Given the description of an element on the screen output the (x, y) to click on. 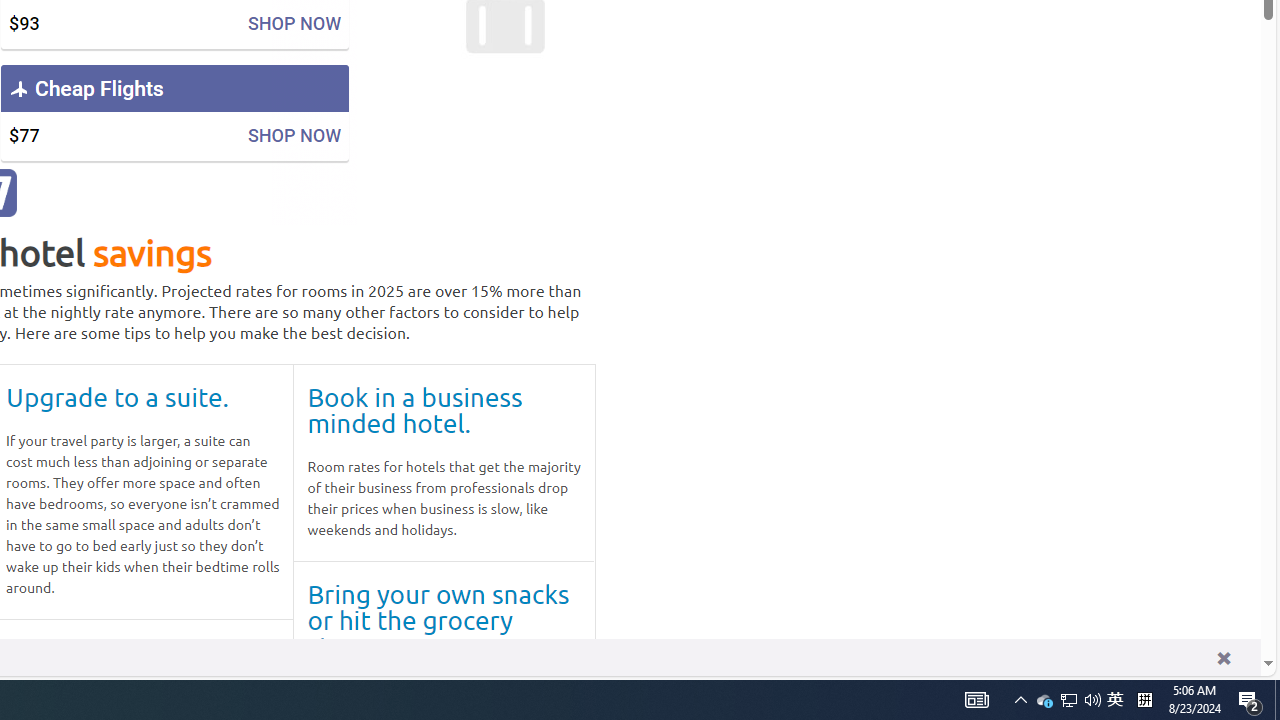
dismiss cookie message (1223, 657)
Cheap Flights $77 SHOP NOW (174, 112)
